Given the description of an element on the screen output the (x, y) to click on. 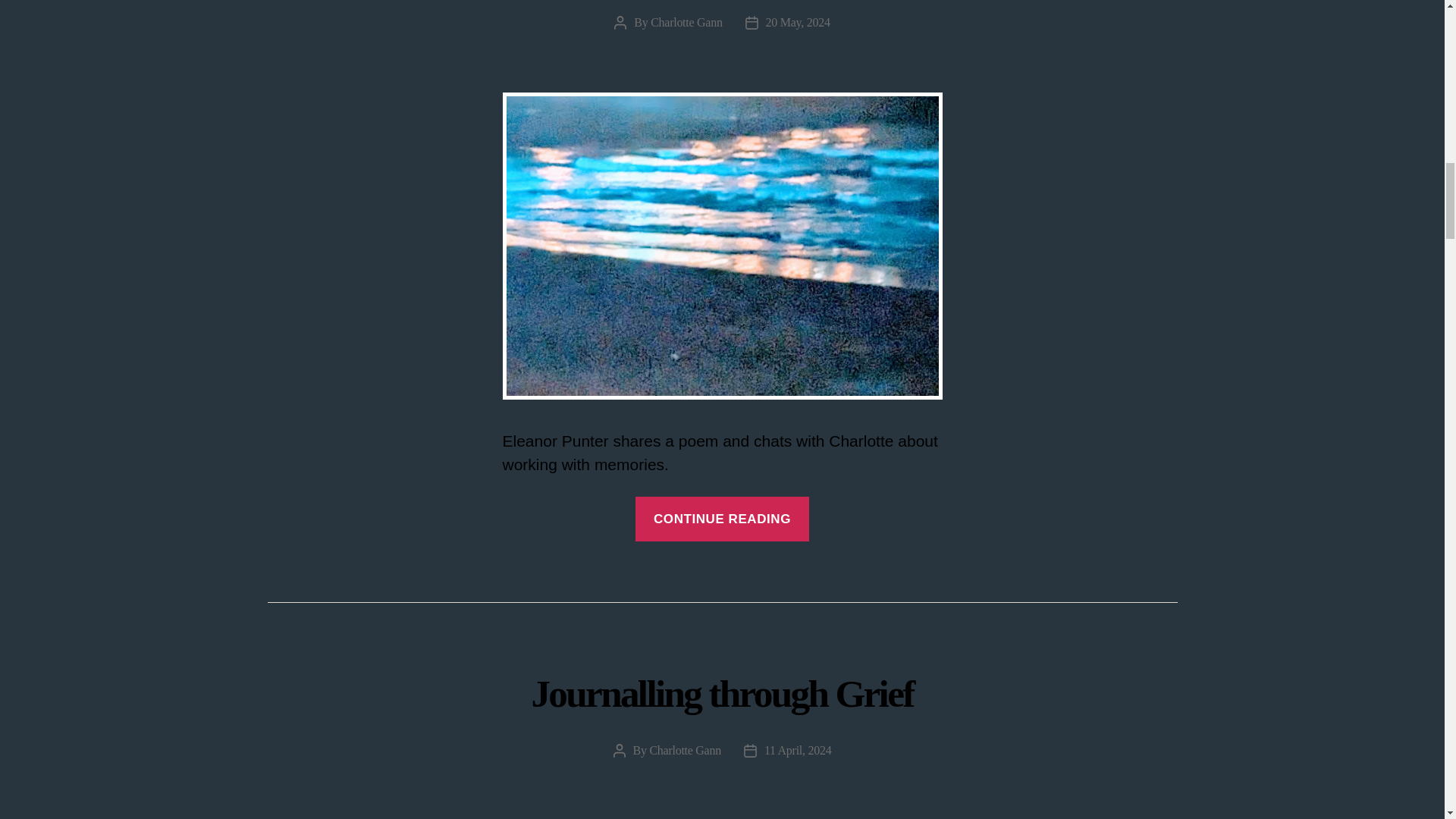
Journalling through Grief (721, 692)
